Given the description of an element on the screen output the (x, y) to click on. 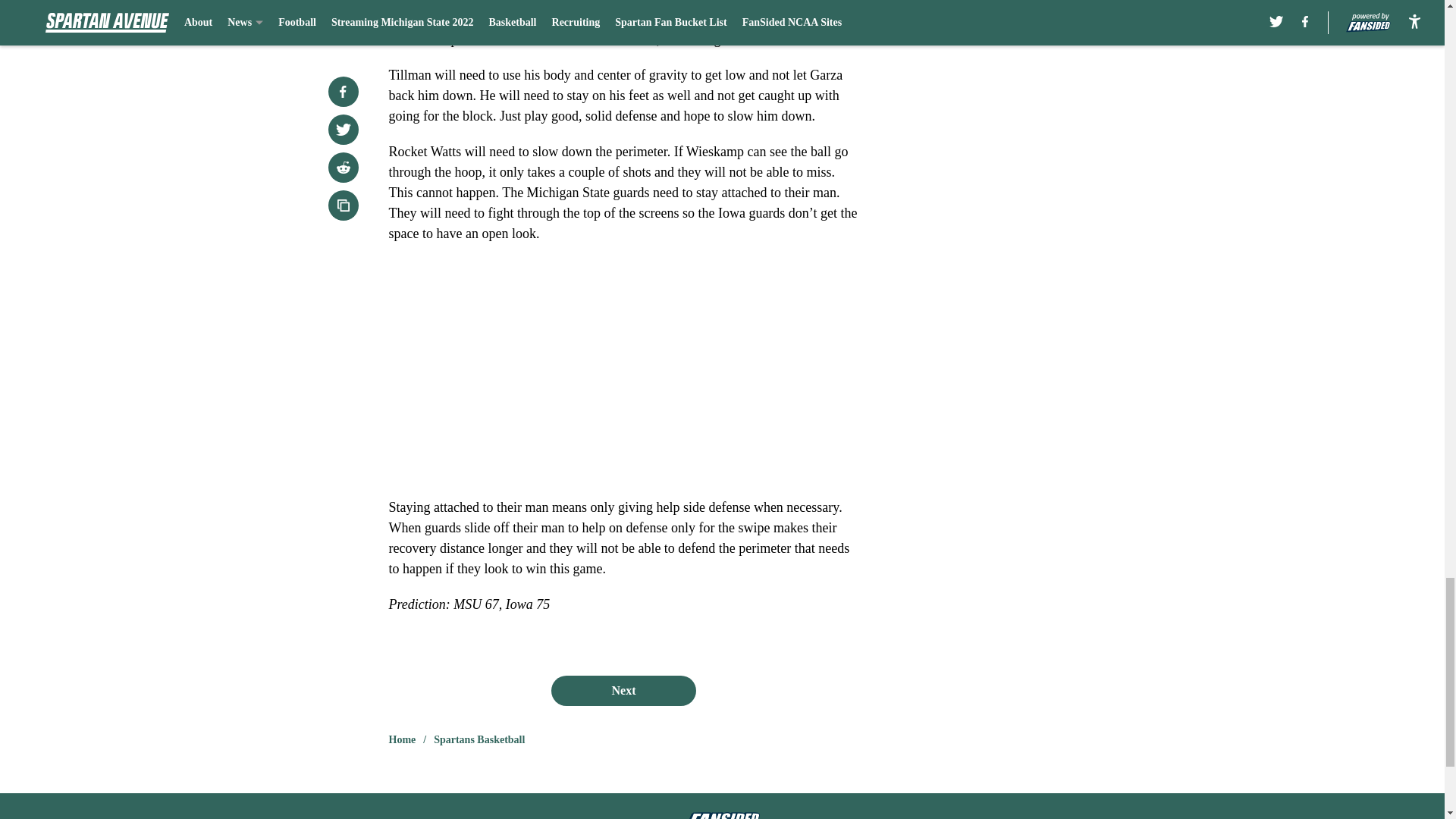
Home (401, 739)
Next (622, 690)
Spartans Basketball (478, 739)
